Given the description of an element on the screen output the (x, y) to click on. 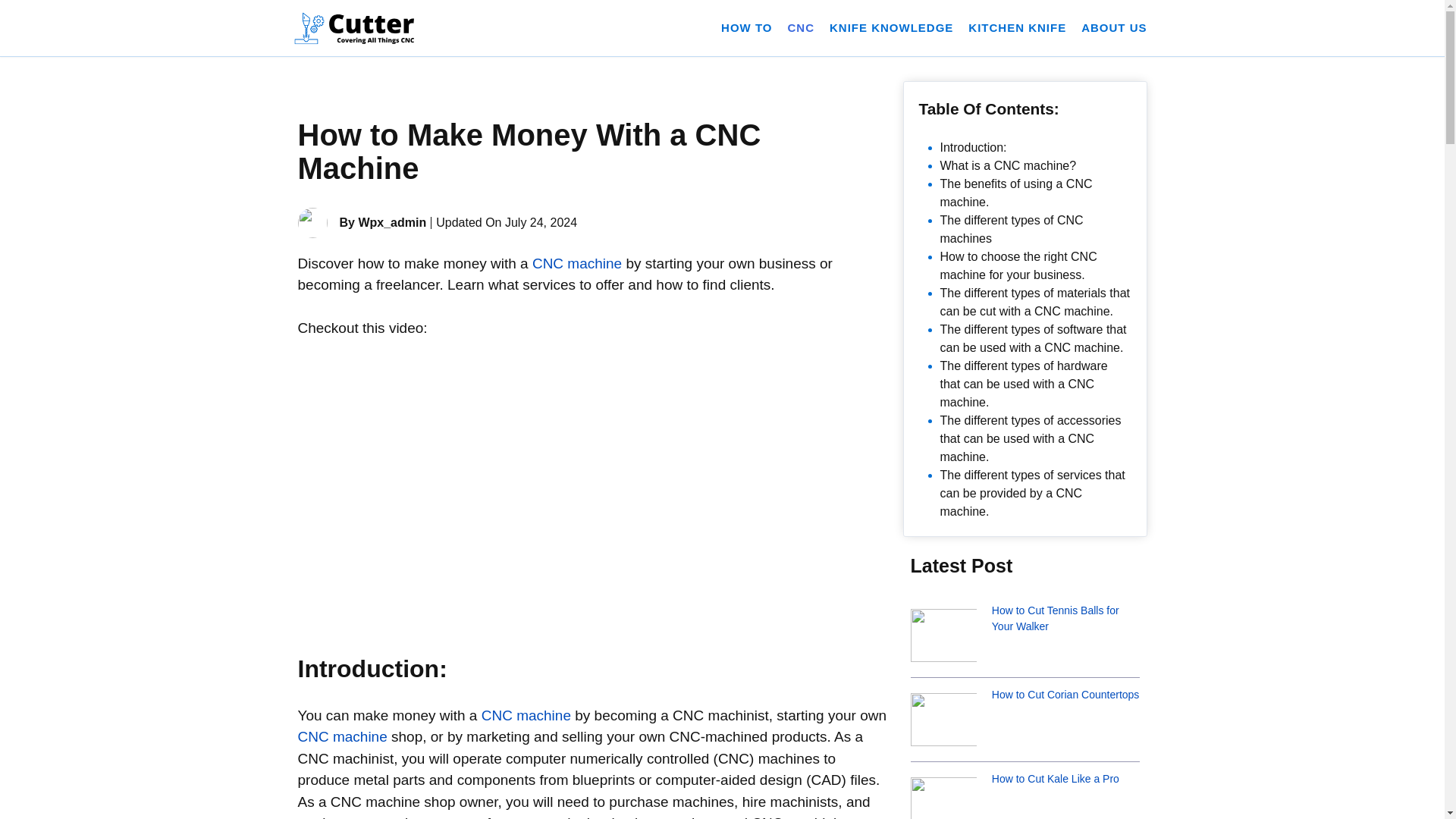
How to choose the right CNC machine for your business. (1018, 265)
What is a CNC machine? (1008, 164)
Introduction: (973, 146)
KNIFE KNOWLEDGE (891, 27)
CNC (800, 27)
CNC machine (576, 262)
KITCHEN KNIFE (1017, 27)
CNC machine (525, 715)
The benefits of using a CNC machine. (1016, 192)
